Given the description of an element on the screen output the (x, y) to click on. 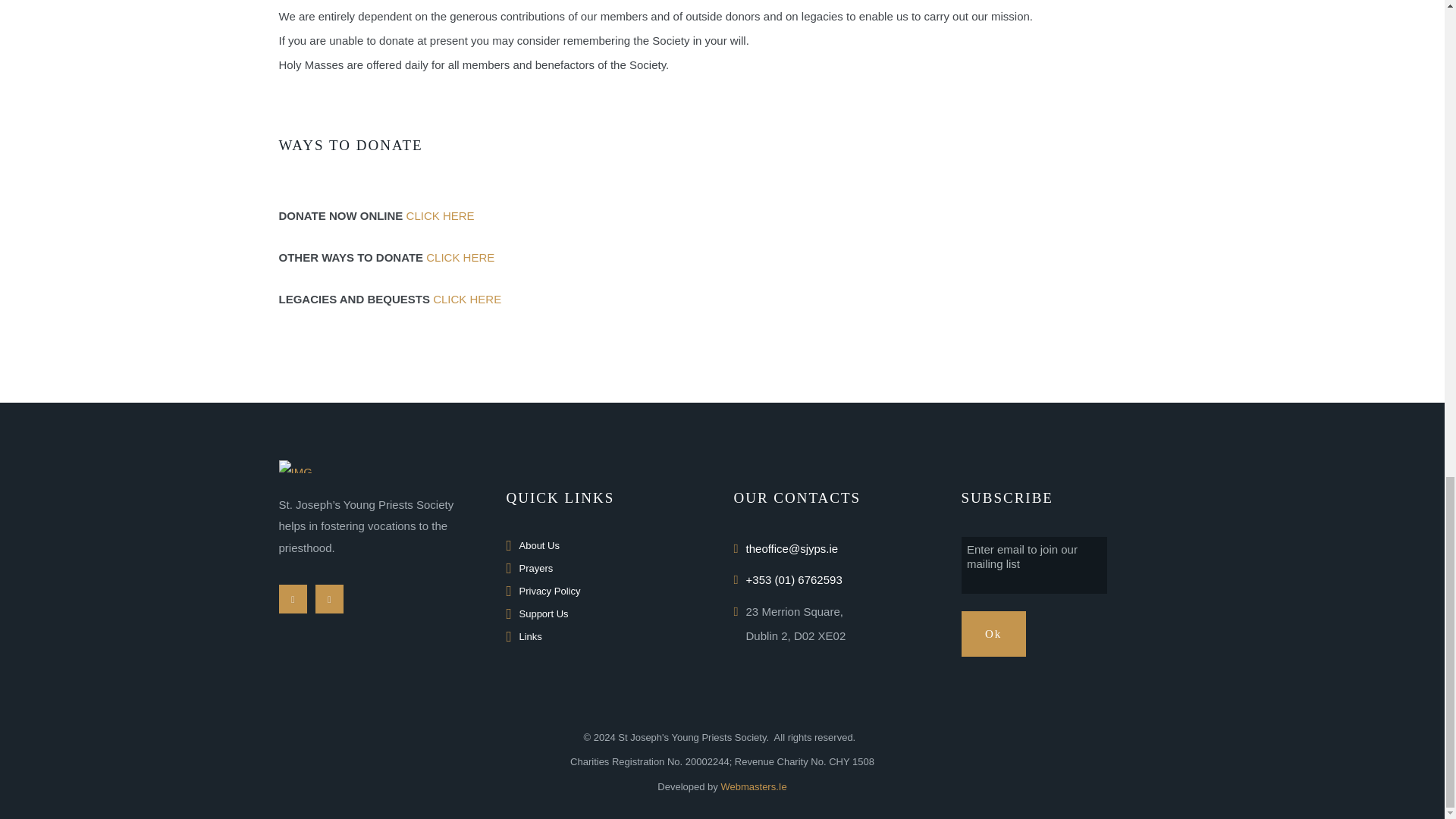
Ok (993, 633)
